Given the description of an element on the screen output the (x, y) to click on. 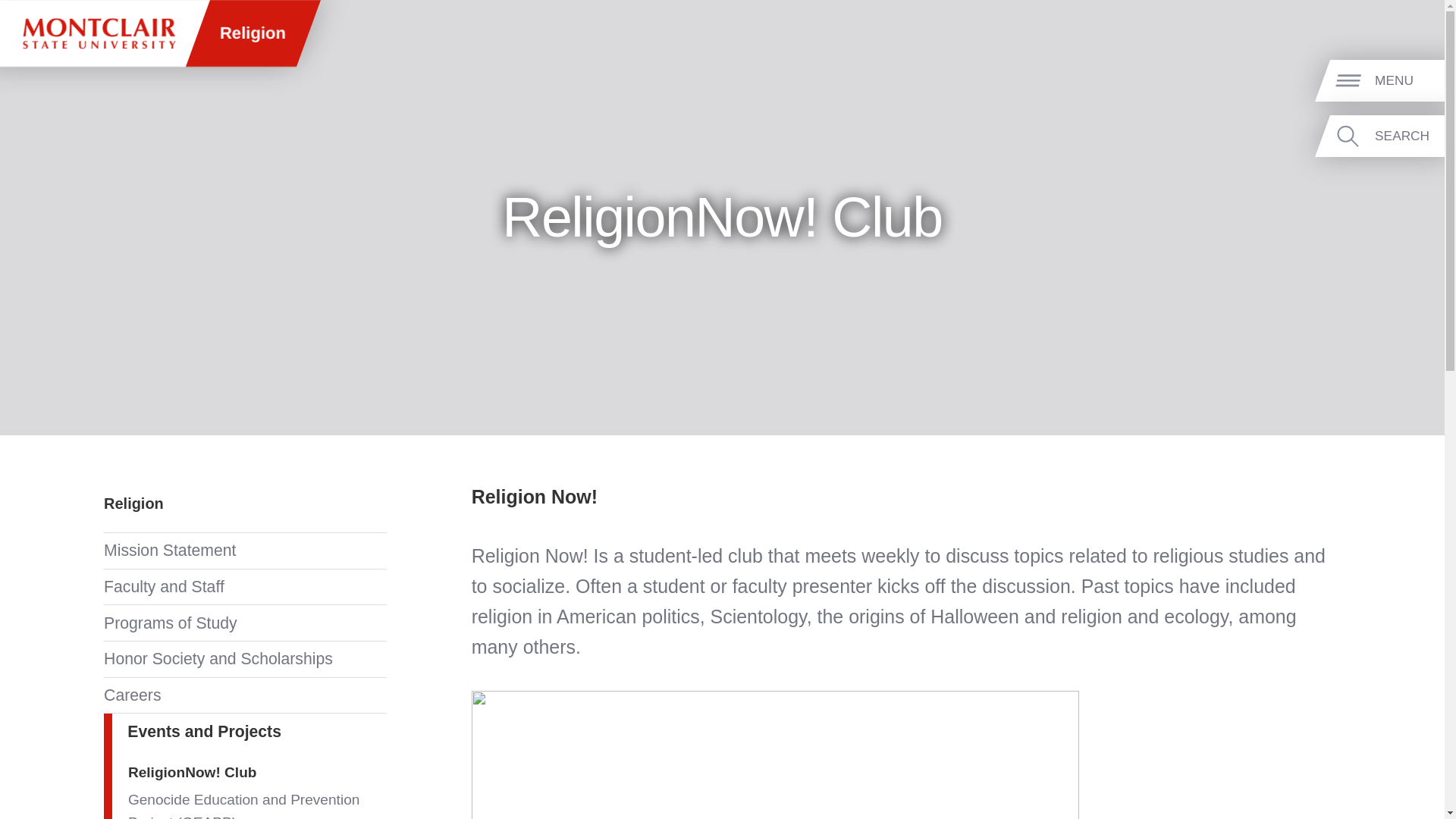
ReligionNow! Club (257, 772)
Programs of Study (244, 622)
Religion (252, 33)
MENU (1406, 81)
Religion (133, 503)
Mission Statement (244, 550)
Events and Projects (244, 731)
Careers (244, 695)
SEARCH (1406, 135)
Honor Society and Scholarships (244, 659)
